Given the description of an element on the screen output the (x, y) to click on. 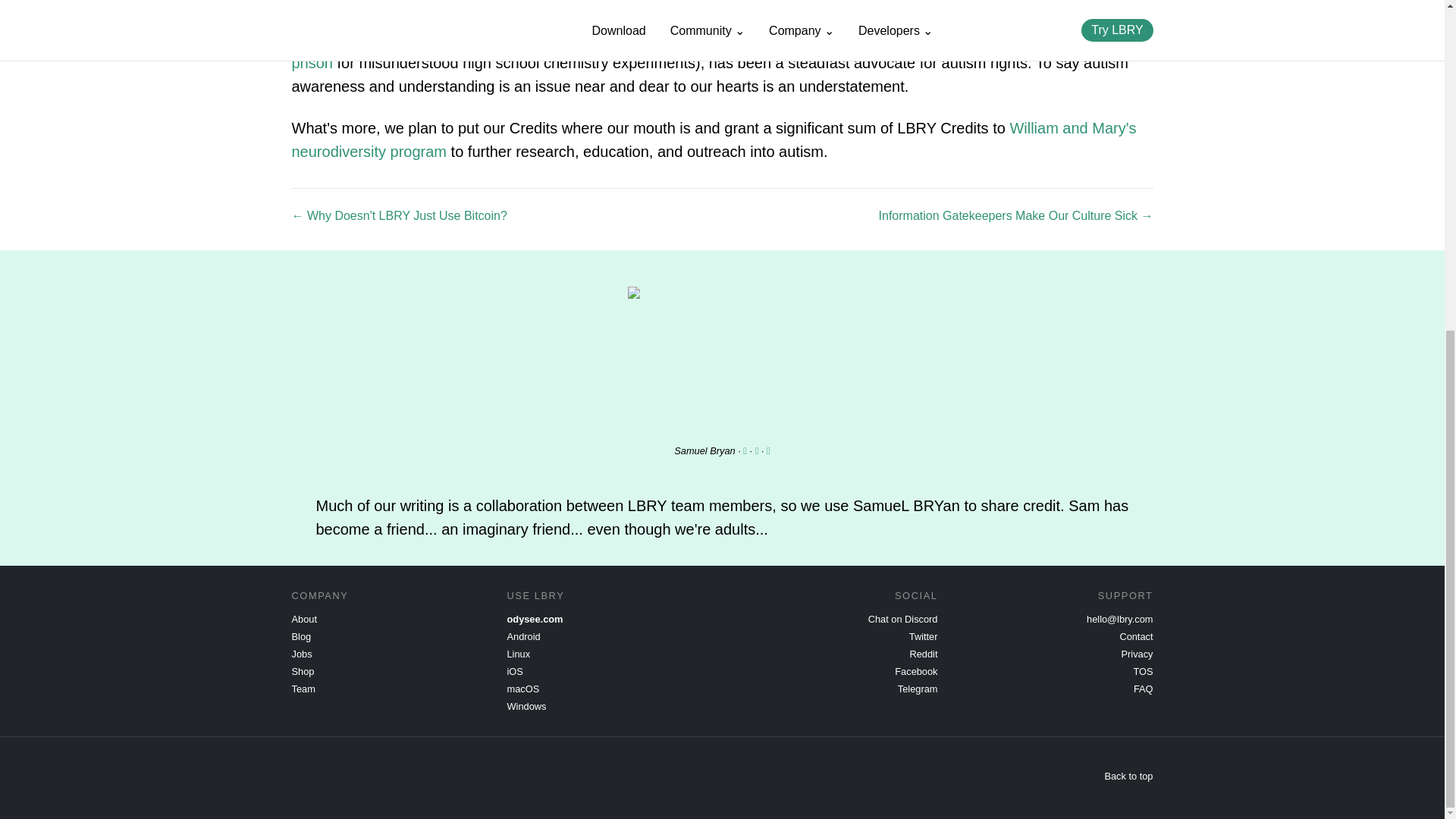
Jobs (301, 654)
LBRY's Discord server (902, 618)
LBRY's Twitter page (922, 636)
LBRY swag for purchase (302, 671)
LBRY's subreddit (923, 654)
Our team is always looking for awesome folks to learn from (301, 654)
faced 60 years in prison (711, 51)
Blog (301, 636)
Read 'Why Doesn't LBRY Just Use Bitcoin?' (398, 216)
The people who bring LBRY to YOU (302, 688)
